Given the description of an element on the screen output the (x, y) to click on. 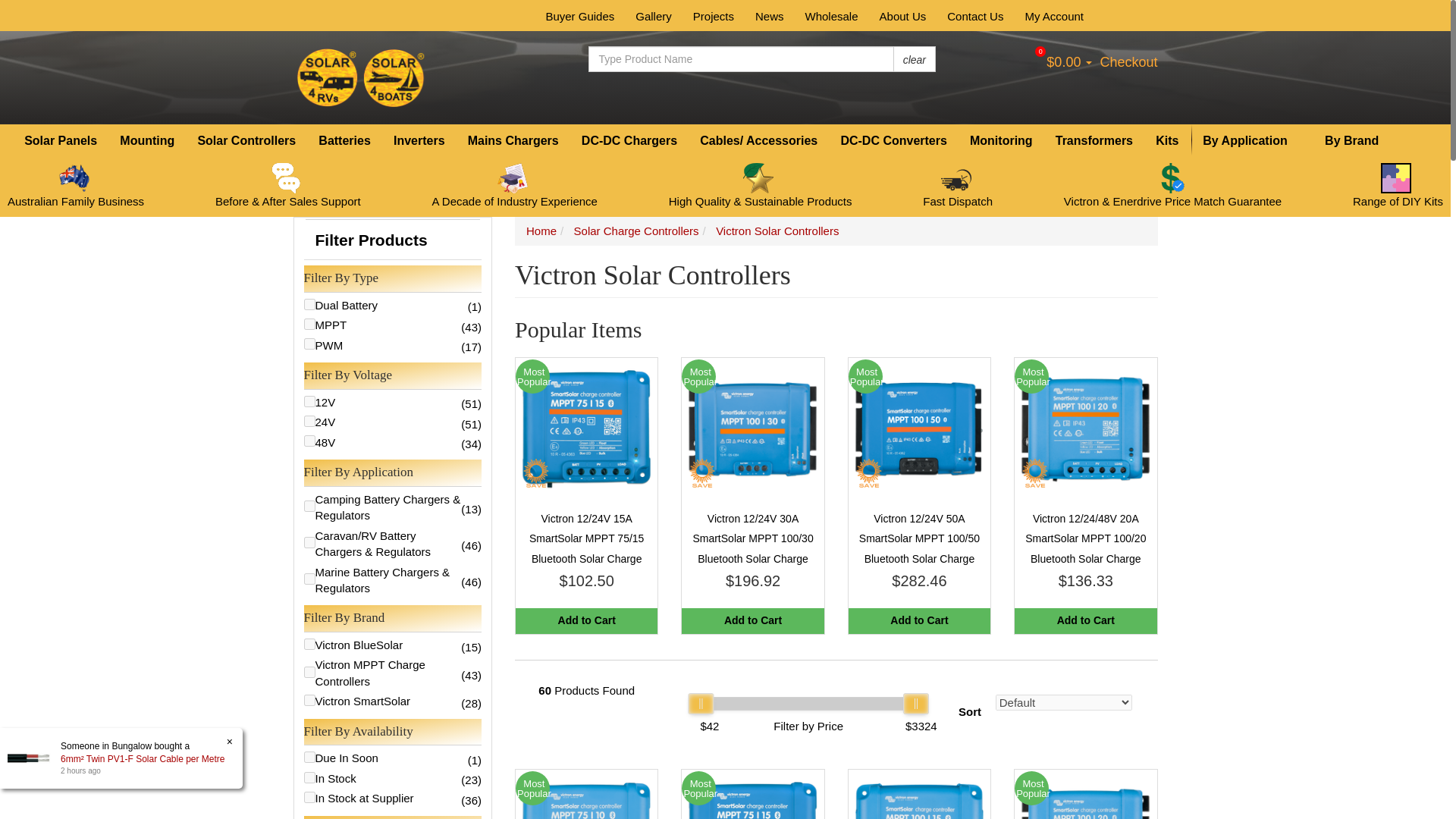
557 (308, 324)
1266 (308, 578)
1269 (308, 505)
A2C (308, 777)
1129 (308, 420)
Solar 4 RVs (360, 75)
1368 (308, 699)
Projects (713, 15)
Gallery (653, 15)
1128 (308, 401)
5D,2D (308, 797)
1130 (308, 440)
1273 (308, 542)
1367 (308, 644)
1131 (308, 343)
